Given the description of an element on the screen output the (x, y) to click on. 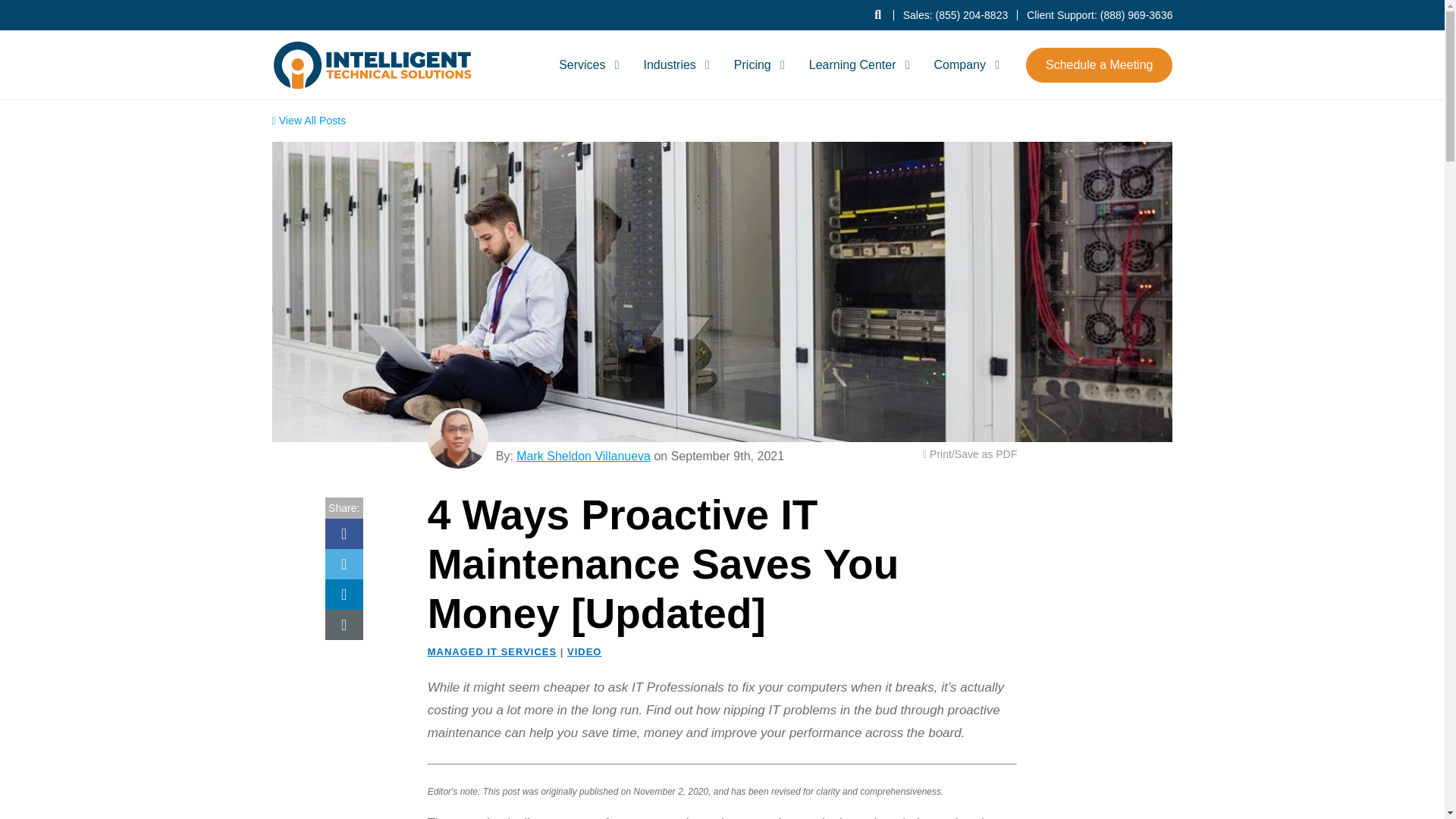
Share on Twitter (343, 563)
Share on Linkedin (343, 594)
Learning Center (856, 64)
Pricing (757, 64)
Company (963, 64)
Share on Facebook (343, 533)
Services (586, 64)
Industries (673, 64)
Mark Sheldon Villanueva (457, 437)
Share via Email (343, 624)
Schedule a Meeting (1099, 63)
